Given the description of an element on the screen output the (x, y) to click on. 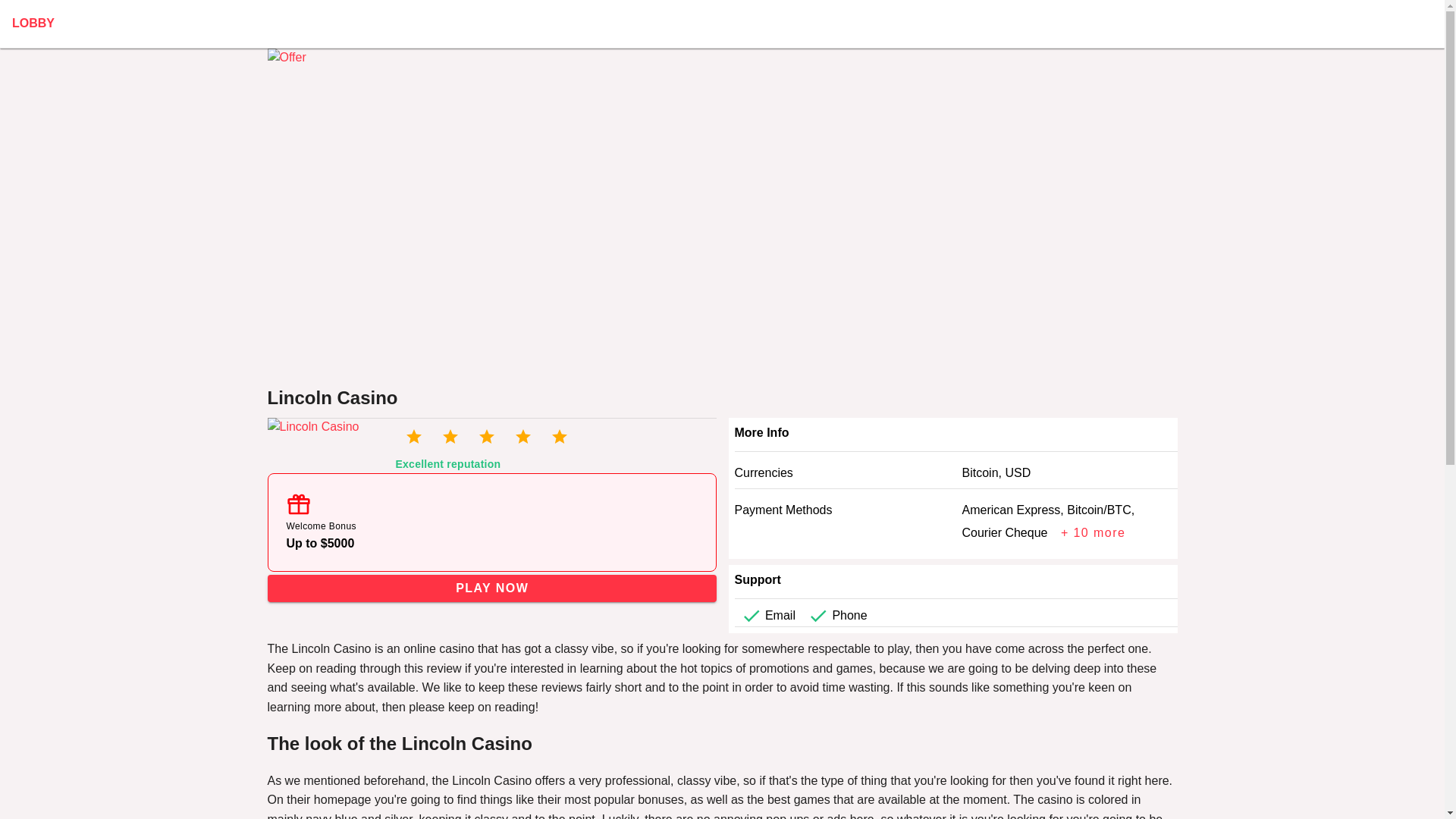
LOGIN (93, 17)
LOBBY (145, 17)
PLAY NOW (491, 587)
SIGN UP (36, 17)
